Given the description of an element on the screen output the (x, y) to click on. 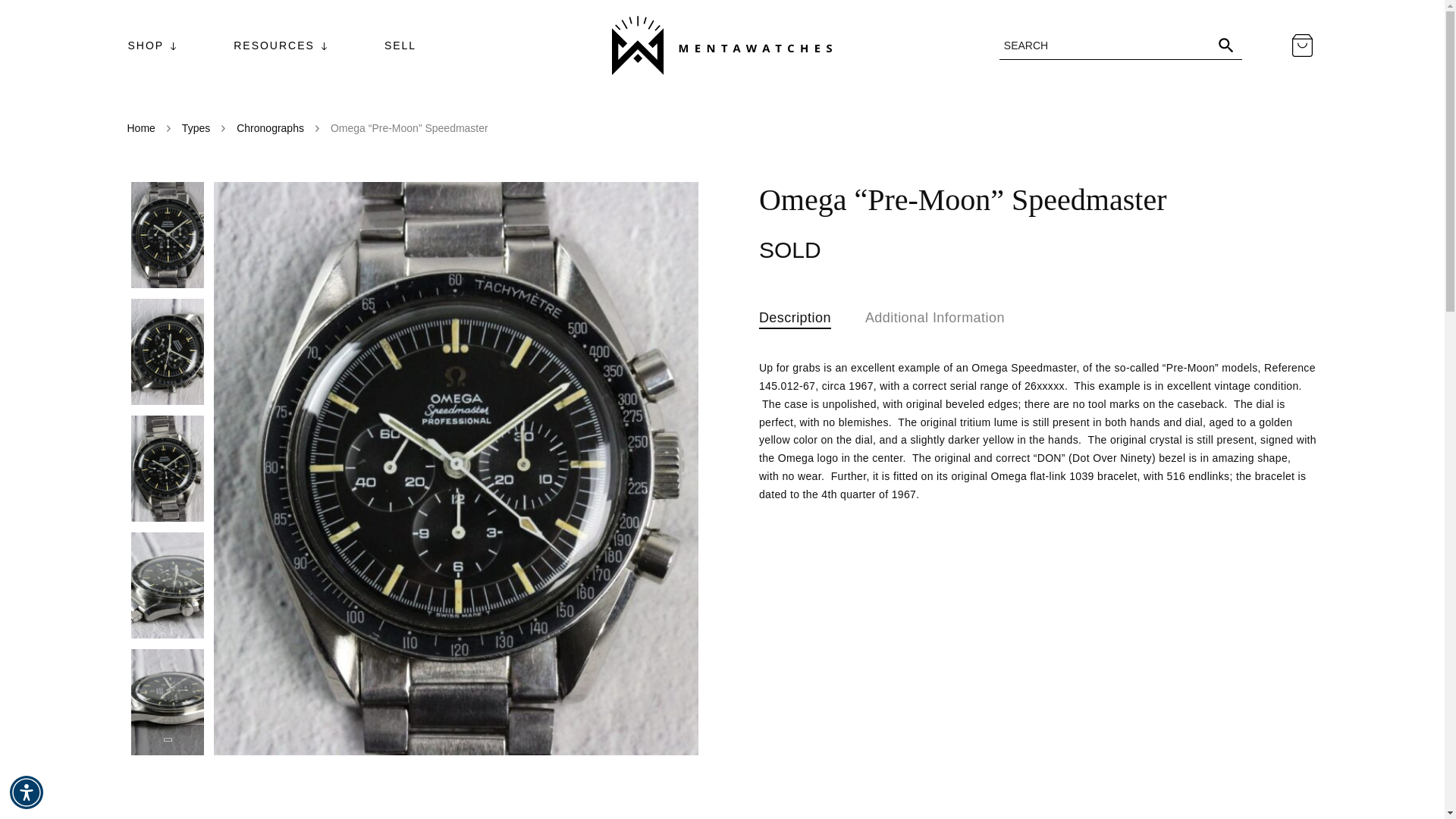
RESOURCES (273, 45)
SELL (400, 45)
Accessibility Menu (26, 792)
SHOP (146, 45)
